Given the description of an element on the screen output the (x, y) to click on. 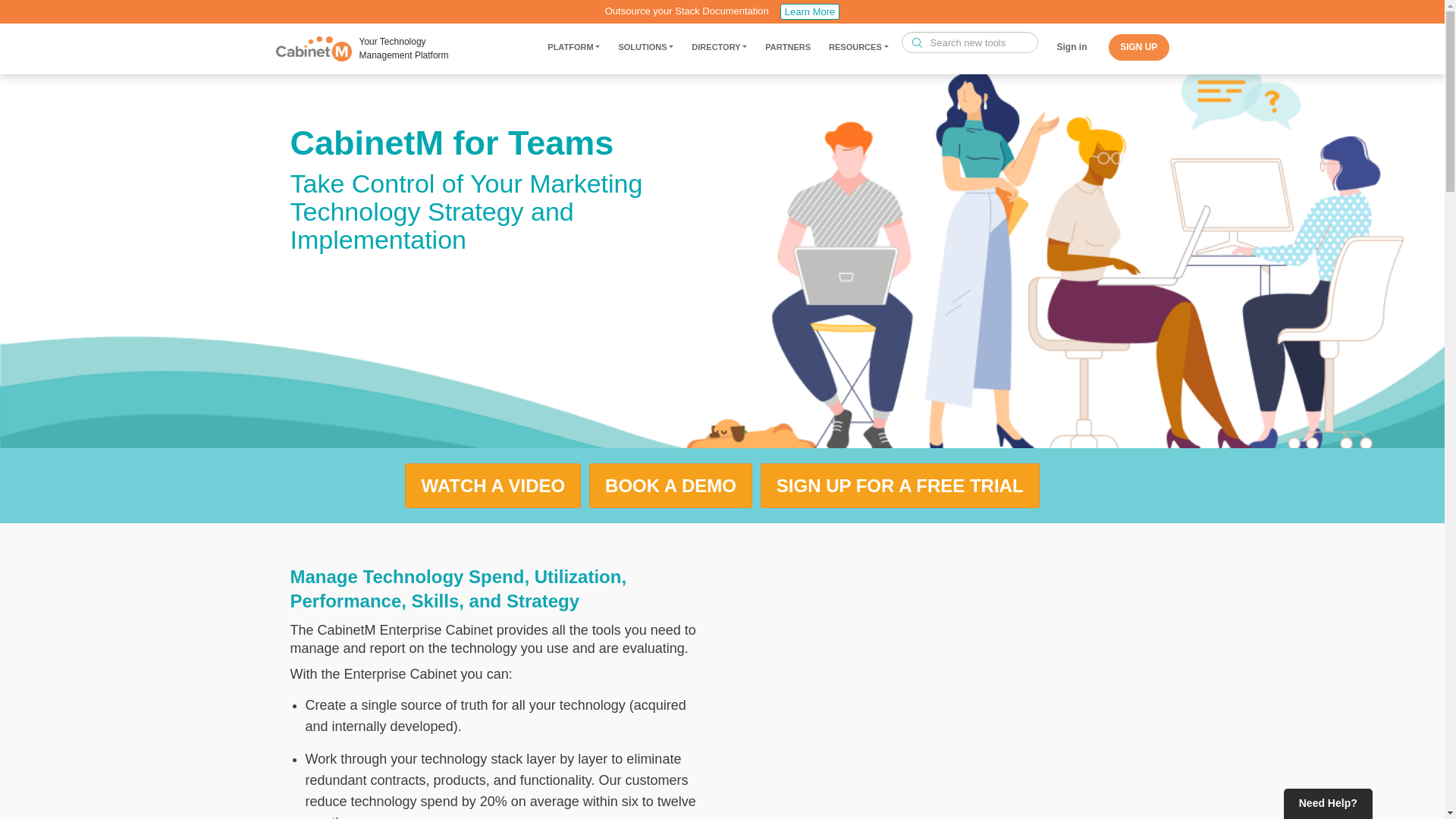
SIGN UP (1138, 47)
YouTube video player (934, 672)
SIGN UP FOR A FREE TRIAL (899, 485)
SOLUTIONS (645, 50)
Sign in (1072, 47)
RESOURCES (858, 50)
WATCH A VIDEO (492, 485)
PLATFORM (573, 50)
BOOK A DEMO (670, 485)
PARTNERS (787, 50)
Learn More (810, 11)
DIRECTORY (719, 50)
